Given the description of an element on the screen output the (x, y) to click on. 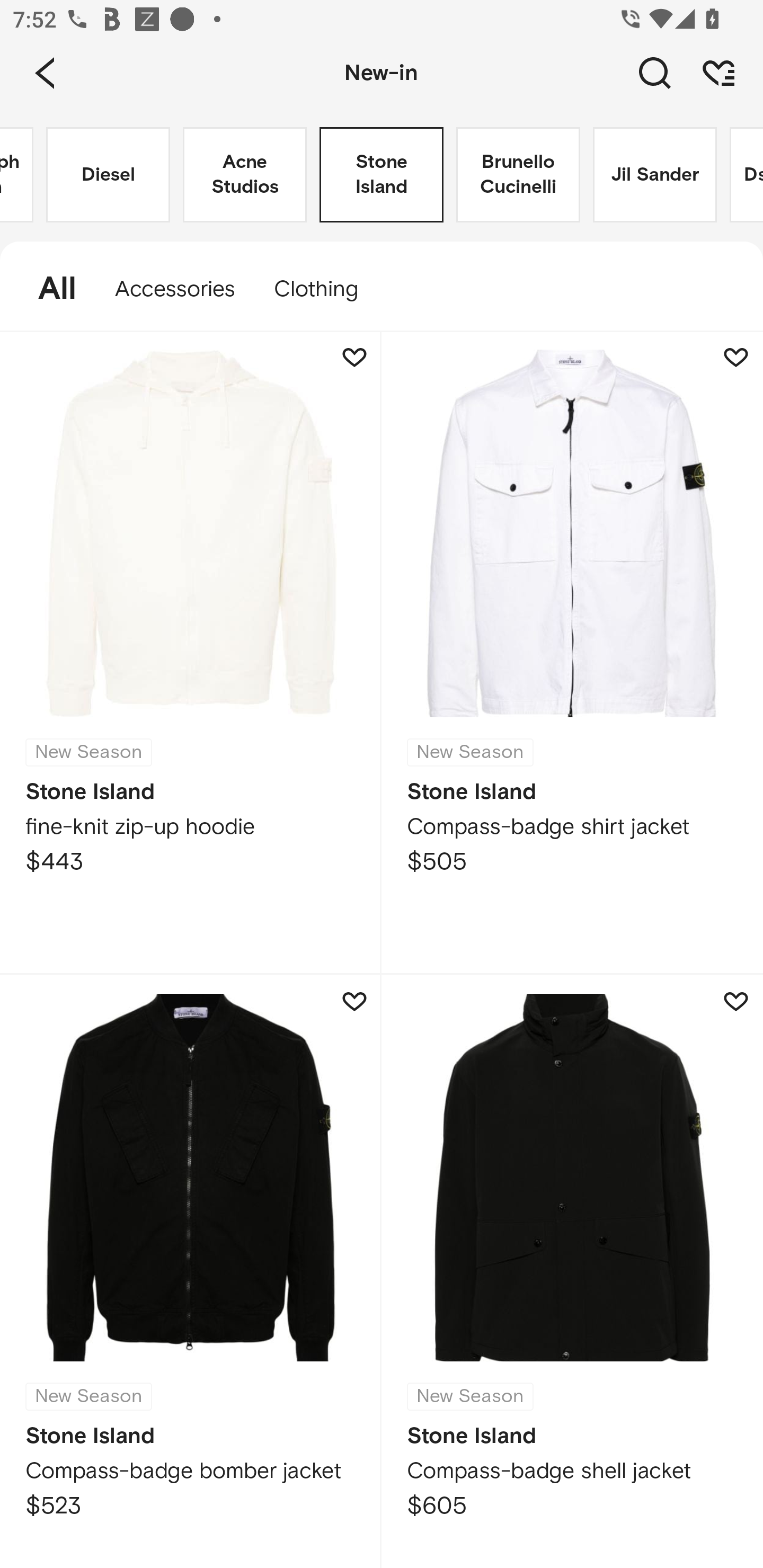
Diesel (107, 174)
Acne Studios (244, 174)
Stone Island (381, 174)
Brunello Cucinelli (517, 174)
Jil Sander (654, 174)
All (47, 288)
Accessories (174, 288)
Clothing (324, 288)
